Given the description of an element on the screen output the (x, y) to click on. 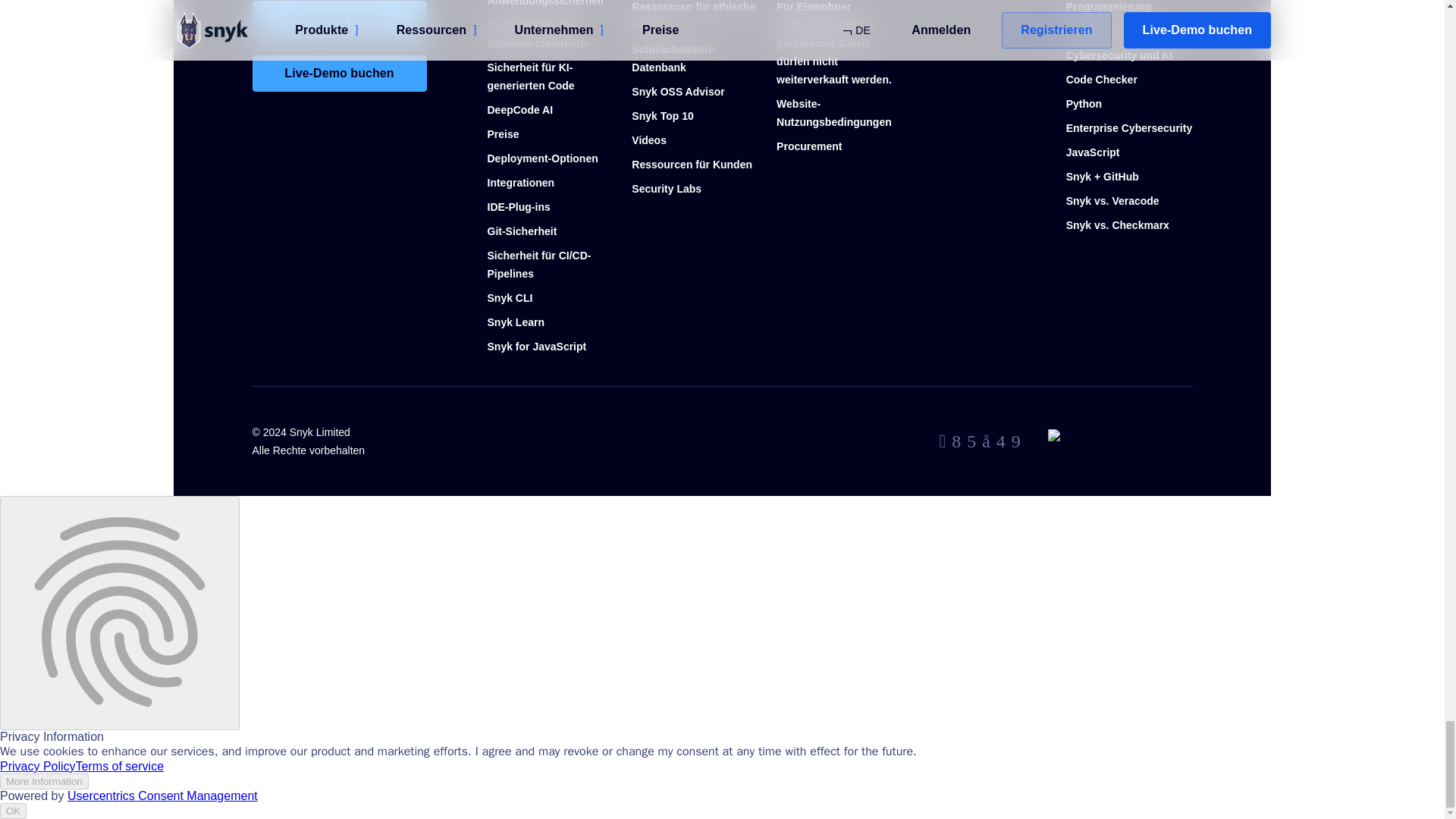
Kostenlos starten (338, 18)
Live-Demo buchen (338, 73)
